Given the description of an element on the screen output the (x, y) to click on. 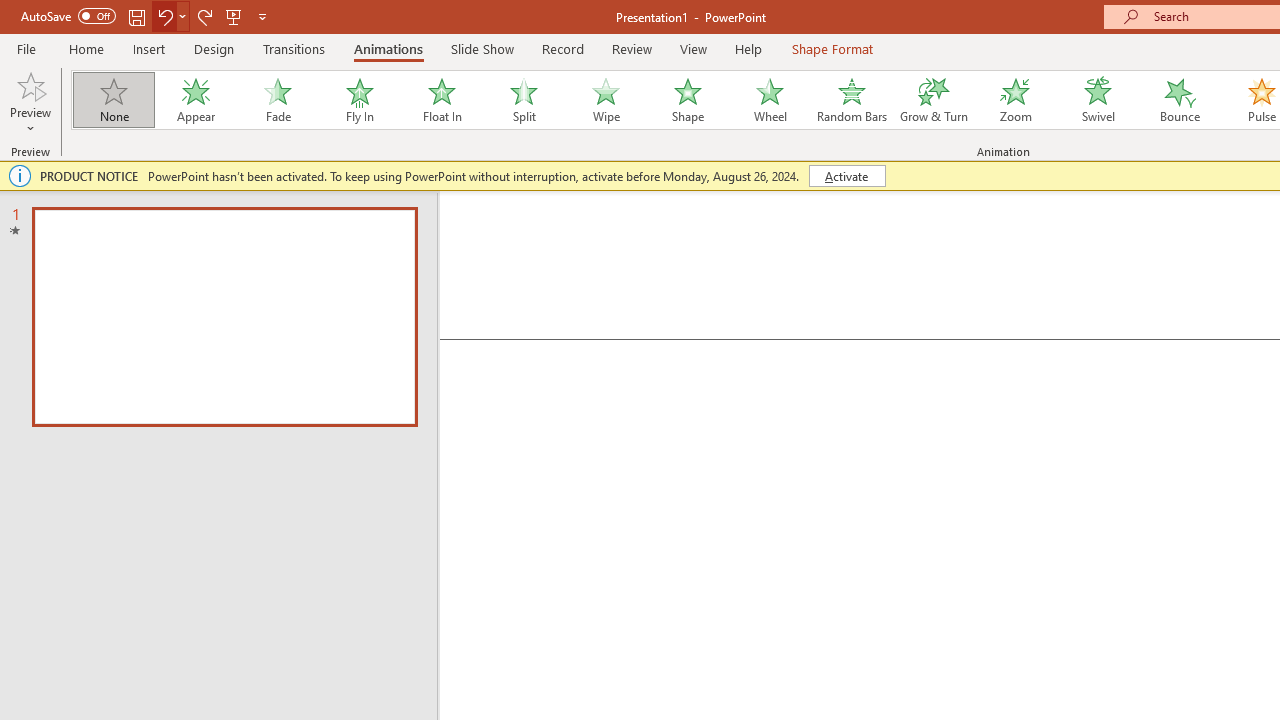
Bounce (1180, 100)
Activate (846, 175)
Float In (441, 100)
Wipe (605, 100)
Fade (277, 100)
Grow & Turn (934, 100)
None (113, 100)
